Given the description of an element on the screen output the (x, y) to click on. 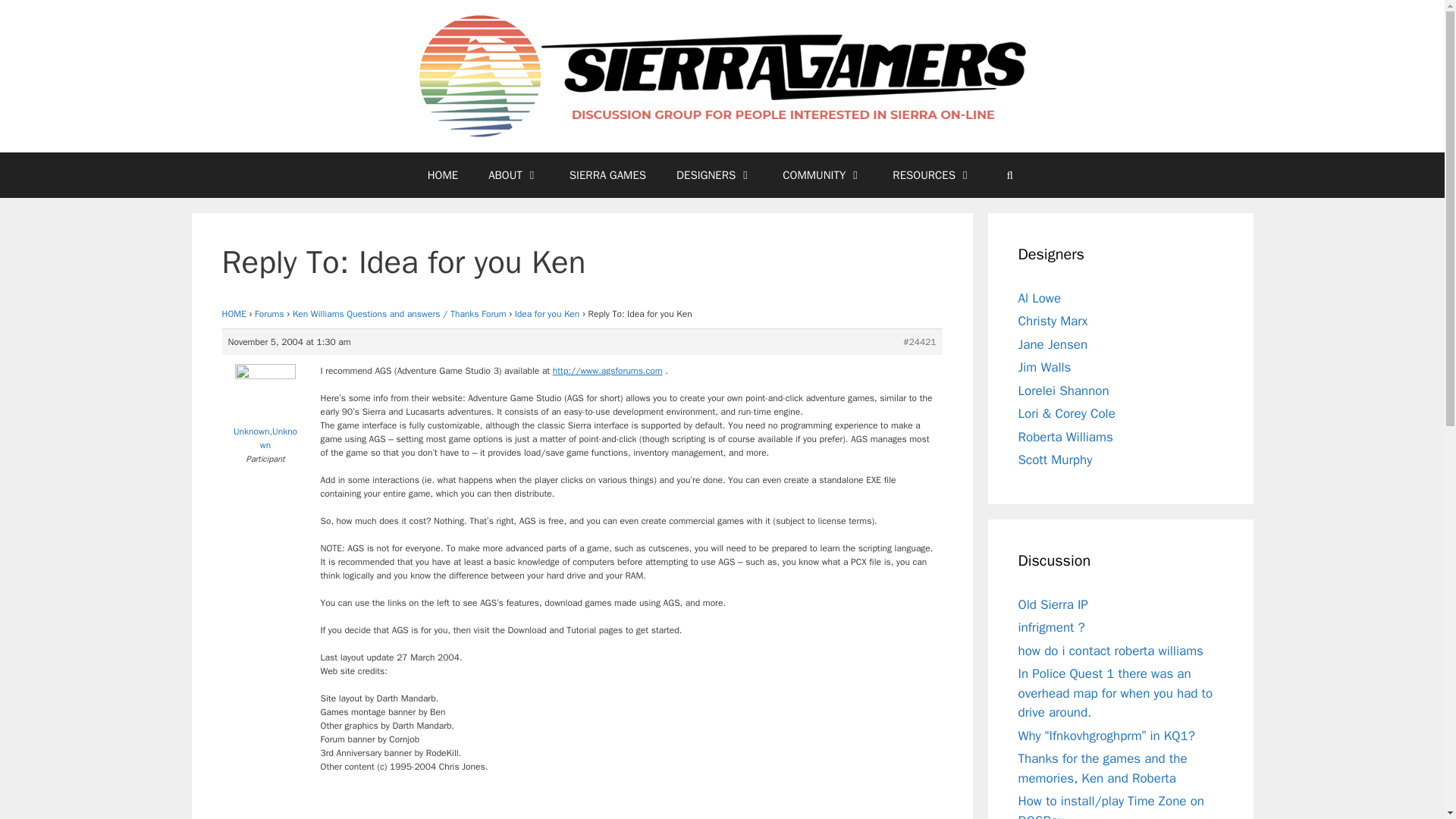
ABOUT (513, 175)
HOME (233, 313)
SIERRA GAMES (607, 175)
Idea for you Ken (547, 313)
DESIGNERS (714, 175)
Forums (268, 313)
RESOURCES (932, 175)
Unknown,Unknown (264, 411)
COMMUNITY (822, 175)
View Unknown,Unknown's profile (264, 411)
